Given the description of an element on the screen output the (x, y) to click on. 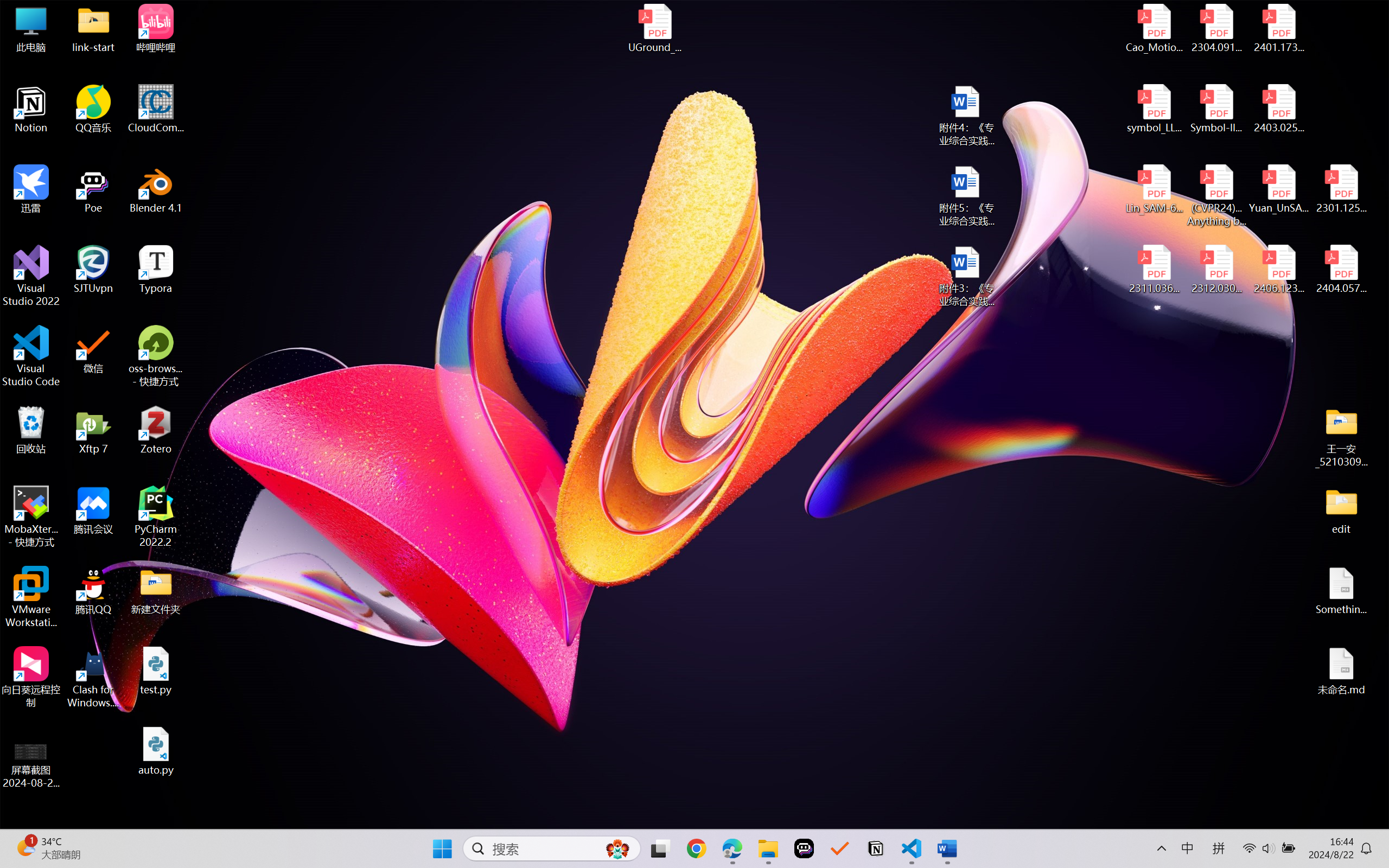
Visual Studio 2022 (31, 276)
UGround_paper.pdf (654, 28)
Symbol-llm-v2.pdf (1216, 109)
edit (1340, 510)
Something.md (1340, 591)
2403.02502v1.pdf (1278, 109)
